Given the description of an element on the screen output the (x, y) to click on. 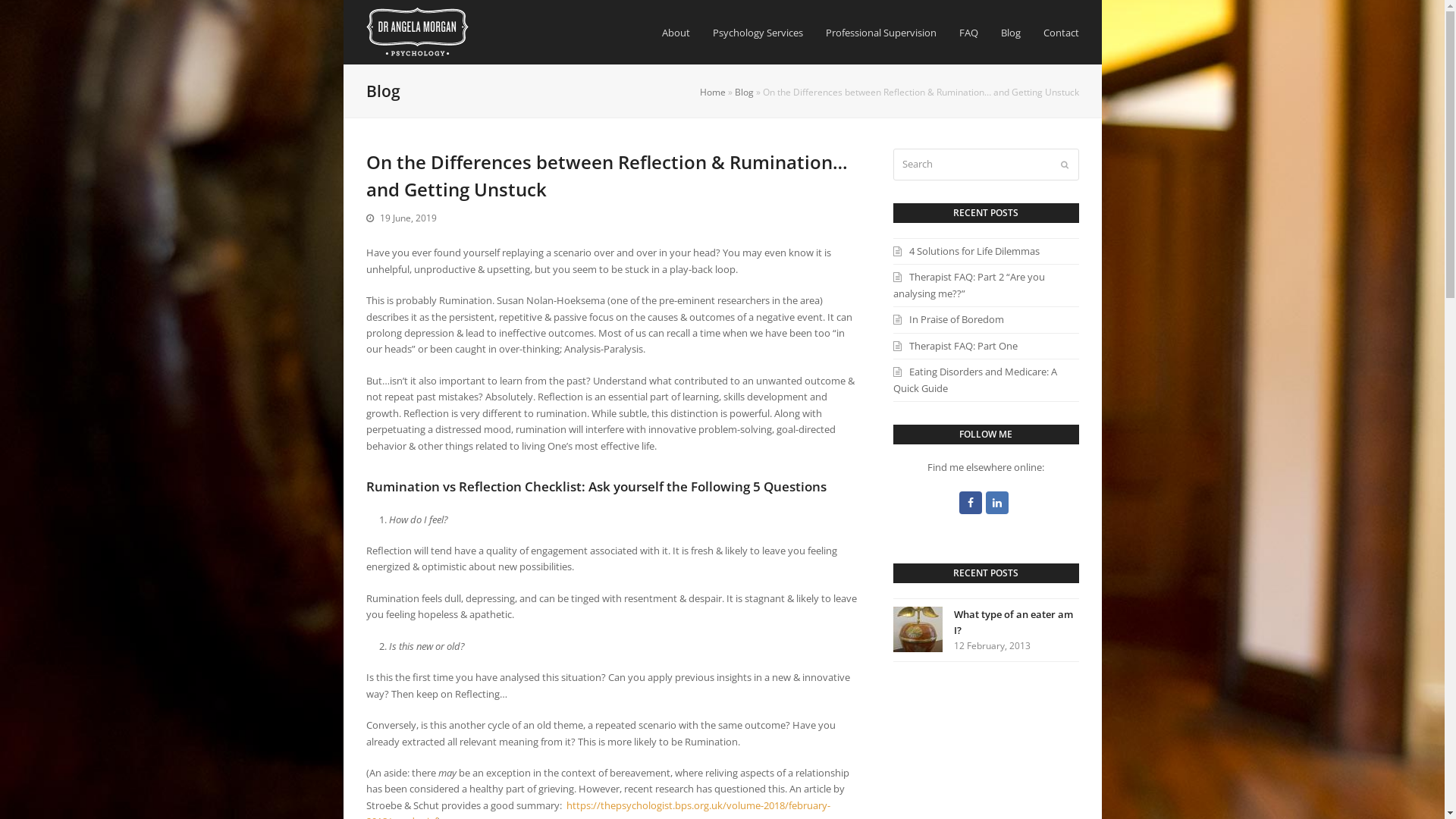
What type of an eater am I? Element type: hover (917, 629)
Eating Disorders and Medicare: A Quick Guide Element type: text (975, 379)
Facebook Element type: text (970, 502)
Blog Element type: text (743, 91)
In Praise of Boredom Element type: text (948, 319)
4 Solutions for Life Dilemmas Element type: text (966, 250)
What type of an eater am I? Element type: text (1013, 621)
Contact Element type: text (1060, 32)
Therapist FAQ: Part One Element type: text (955, 345)
Submit Element type: text (1063, 164)
Home Element type: text (711, 91)
FAQ Element type: text (968, 32)
Psychology Services Element type: text (756, 32)
Professional Supervision Element type: text (880, 32)
LinkedIn Element type: text (996, 502)
About Element type: text (675, 32)
Blog Element type: text (1009, 32)
